Given the description of an element on the screen output the (x, y) to click on. 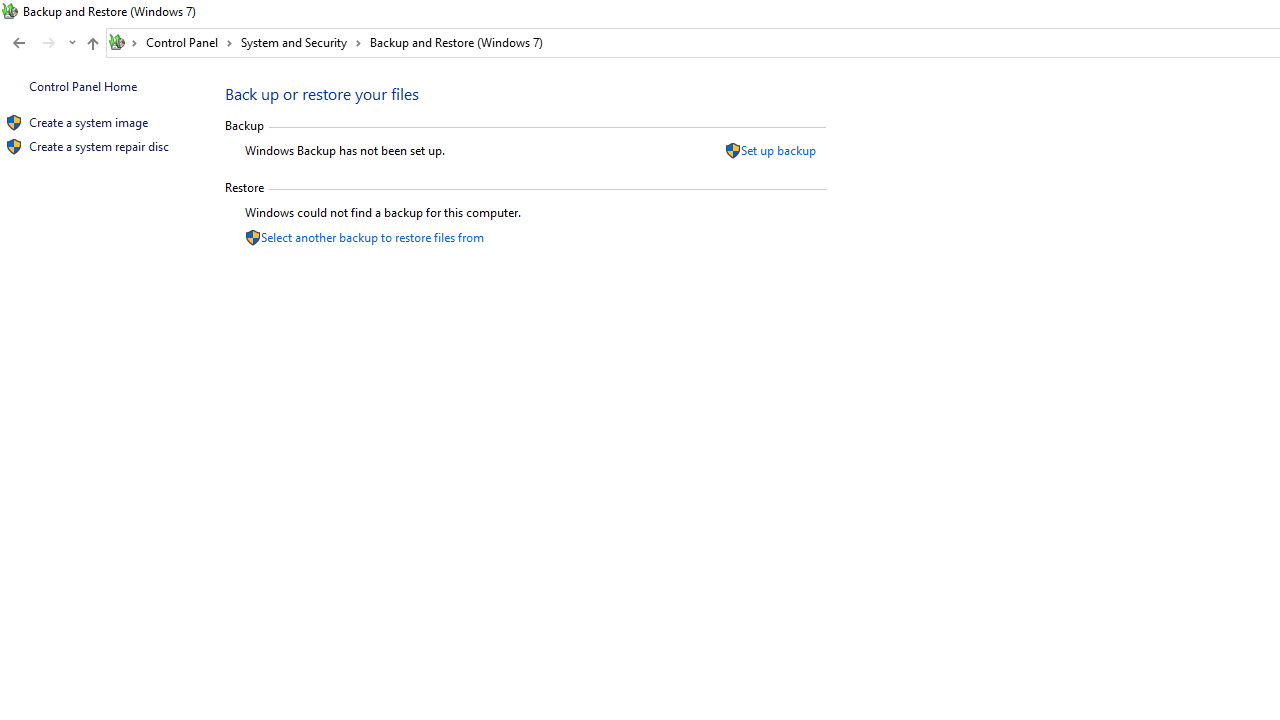
Control Panel (189, 42)
Back to System and Security (Alt + Left Arrow) (18, 43)
System (10, 11)
Navigation buttons (41, 43)
All locations (124, 42)
Icon (13, 146)
System and Security (301, 42)
Create a system repair disc (98, 146)
Control Panel Home (82, 86)
Create a system image (87, 122)
Set up backup (778, 150)
Up to "System and Security" (Alt + Up Arrow) (92, 43)
Up band toolbar (92, 46)
Select another backup to restore files from (372, 236)
System (10, 11)
